Given the description of an element on the screen output the (x, y) to click on. 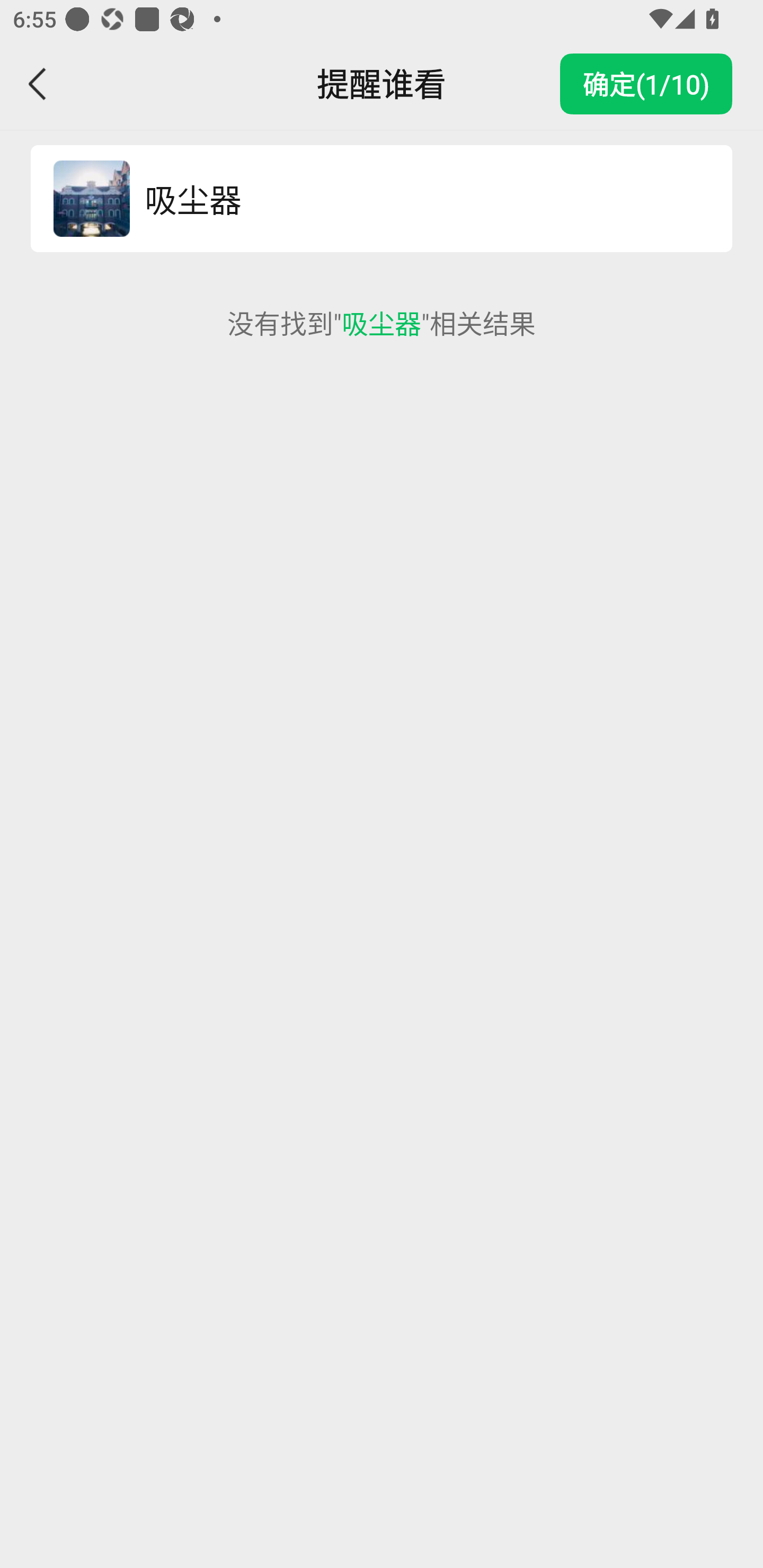
返回 (38, 83)
确定(1/10) (646, 83)
CYX (91, 198)
吸尘器 (418, 198)
